Given the description of an element on the screen output the (x, y) to click on. 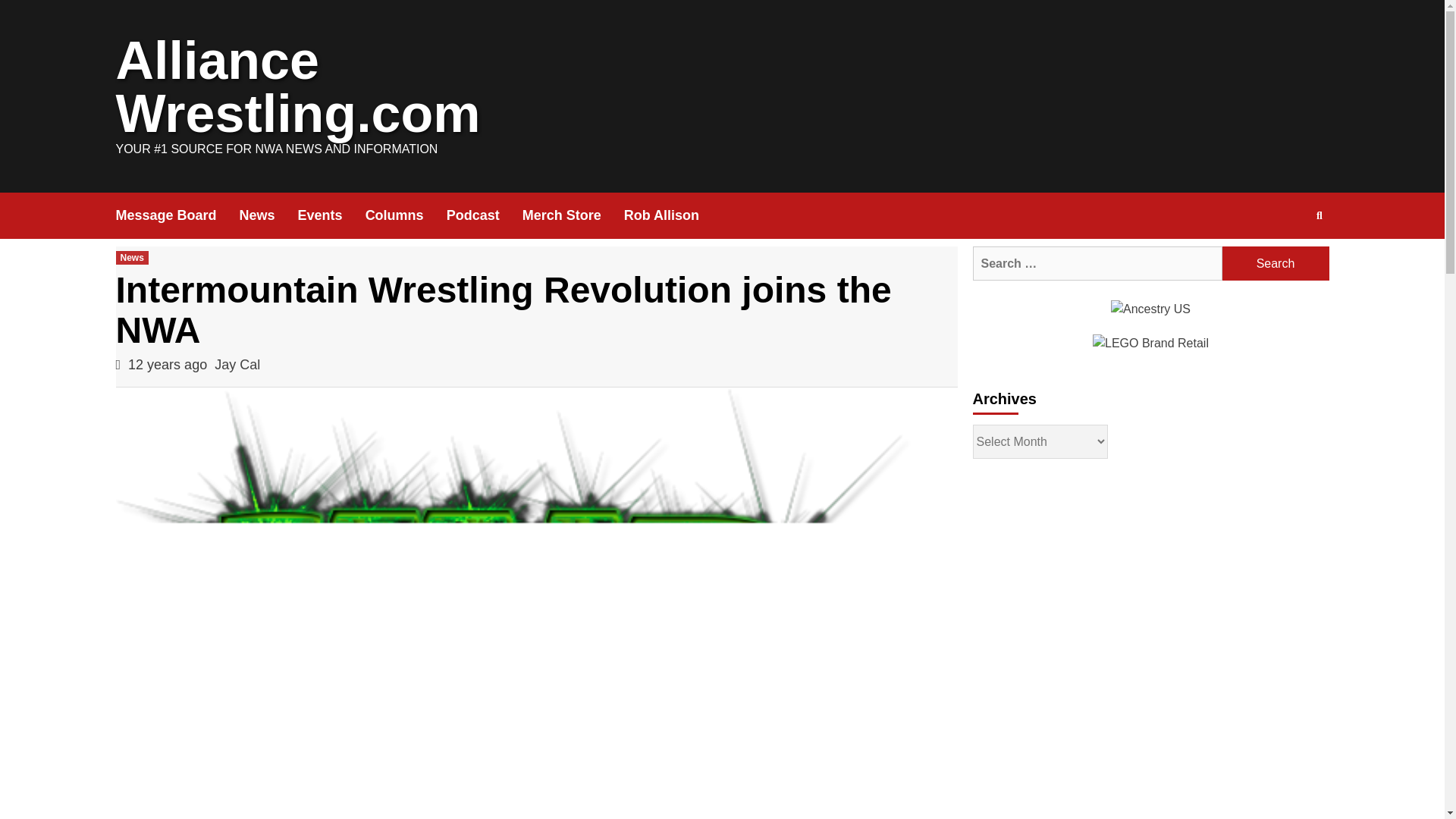
Rob Allison (673, 215)
Search (1276, 263)
Merch Store (573, 215)
Jay Cal (237, 364)
News (131, 257)
Podcast (484, 215)
Columns (405, 215)
Search (1276, 263)
Alliance Wrestling.com (297, 87)
Search (1283, 264)
Search (1319, 215)
News (269, 215)
Events (331, 215)
Message Board (176, 215)
